Given the description of an element on the screen output the (x, y) to click on. 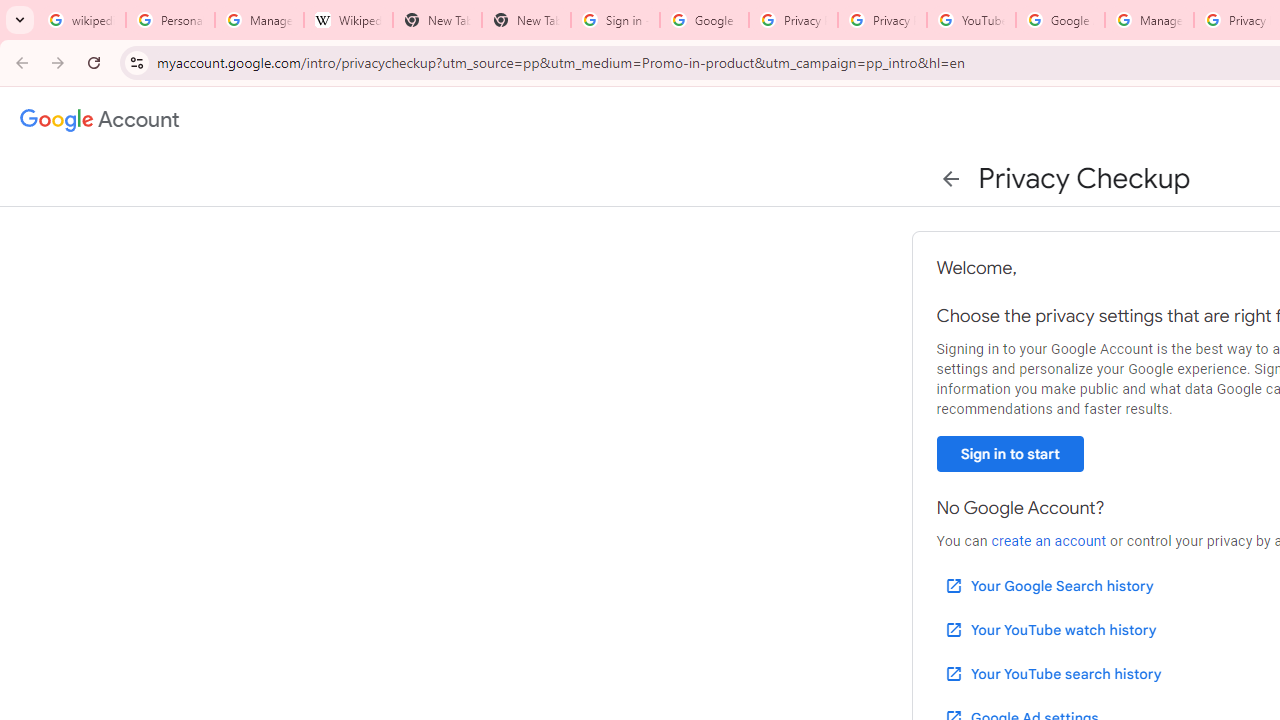
Google Account settings (100, 120)
Wikipedia:Edit requests - Wikipedia (347, 20)
Sign in to start (1009, 454)
Google Drive: Sign-in (704, 20)
Your YouTube search history (1052, 673)
Your Google Search history (1048, 586)
Personalization & Google Search results - Google Search Help (170, 20)
